Given the description of an element on the screen output the (x, y) to click on. 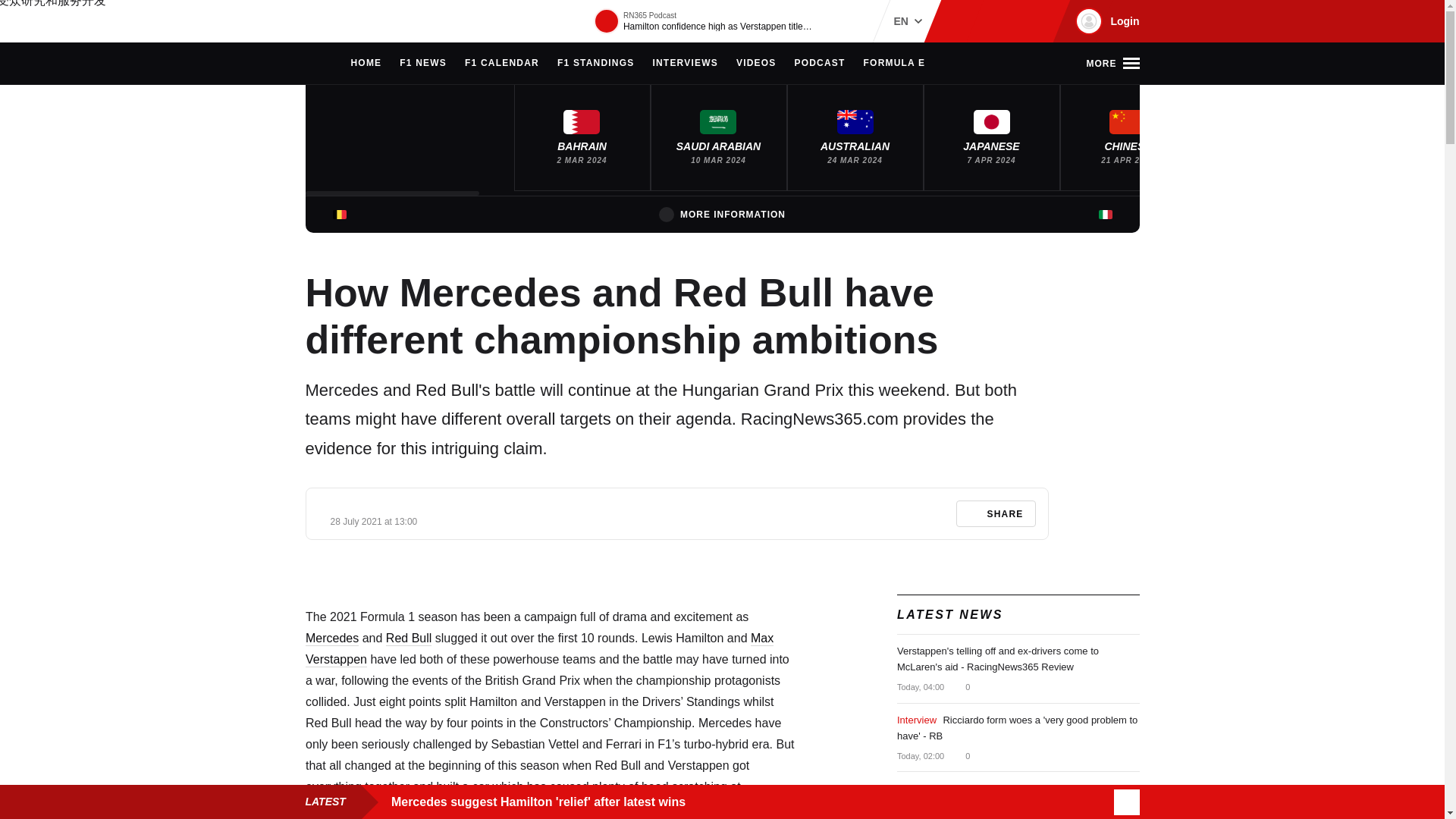
F1 STANDINGS (595, 63)
RacingNews365 on YouTube (1034, 21)
F1 CALENDAR (501, 63)
F1 NEWS (422, 63)
RacingNews365 on Facebook (986, 21)
Login (1104, 21)
INTERVIEWS (684, 63)
Wednesday 28 July 2021 at 13:00 (373, 521)
RacingNews365 (350, 21)
RacingNews365 on Instagram (962, 21)
